Given the description of an element on the screen output the (x, y) to click on. 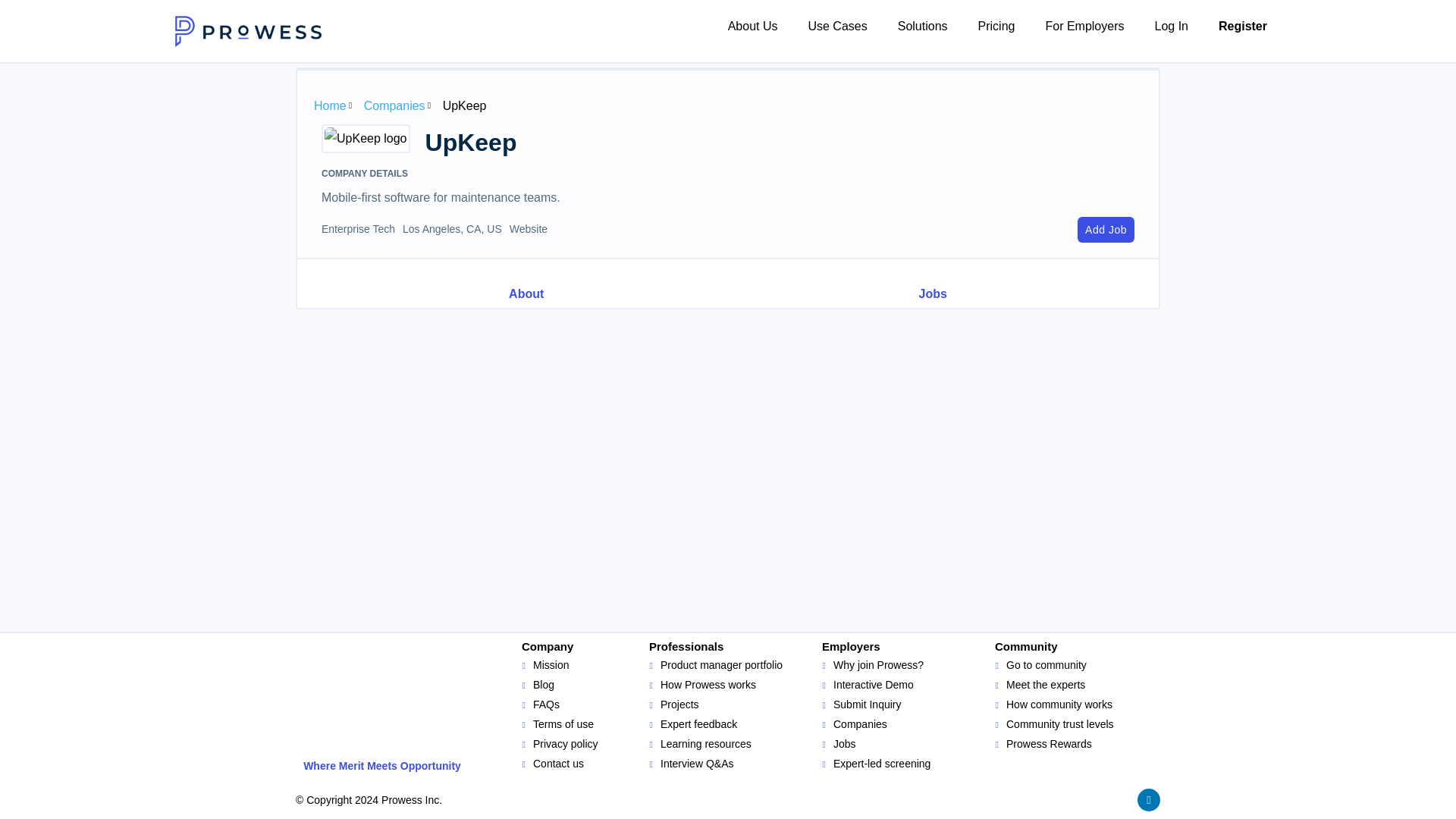
Register (1243, 26)
Log In (1170, 26)
Use Cases (837, 26)
UpKeep (366, 138)
Pricing (996, 26)
For Employers (1083, 26)
About Us (753, 26)
Solutions (922, 26)
